Given the description of an element on the screen output the (x, y) to click on. 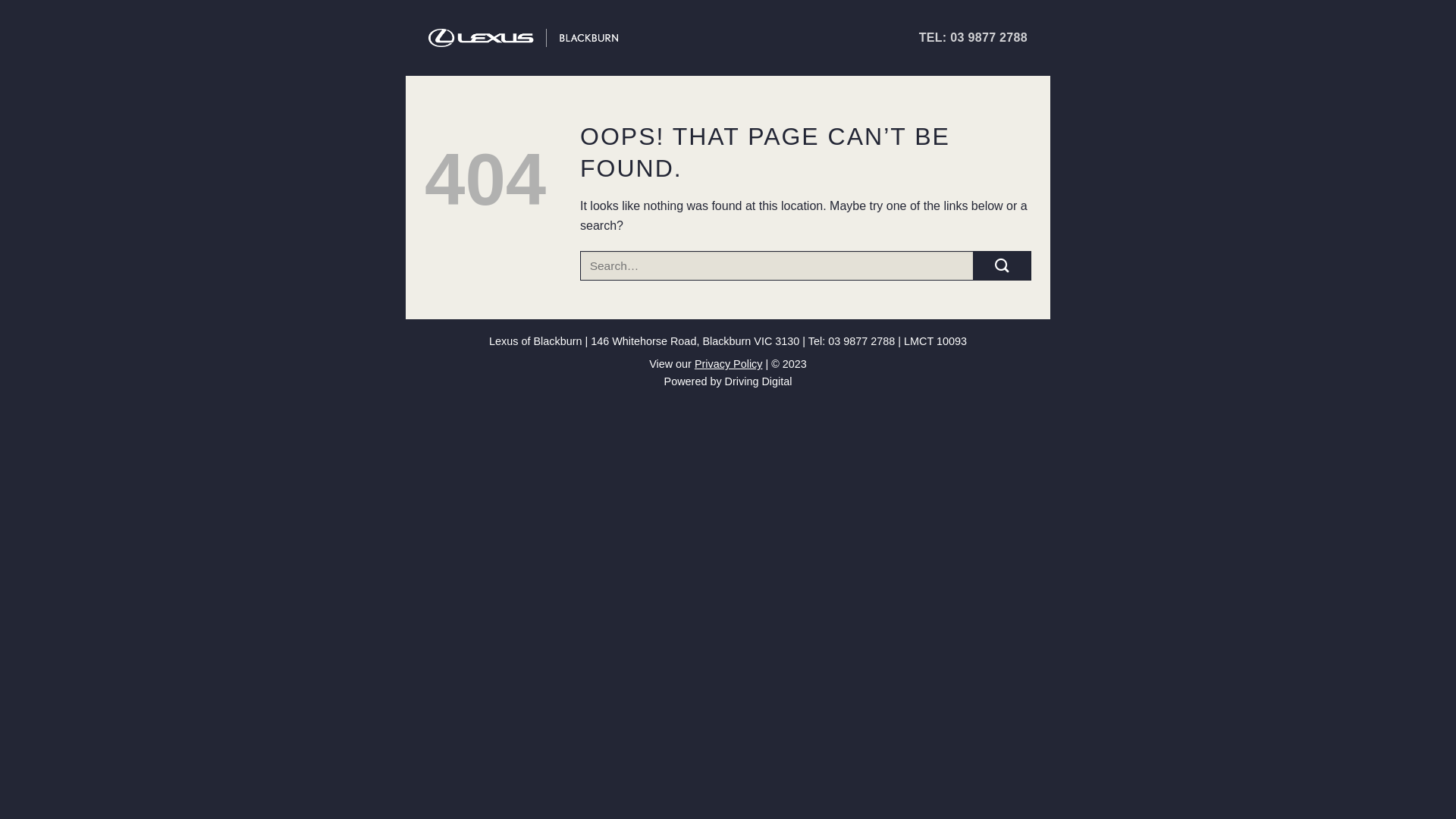
TEL: 03 9877 2788 Element type: text (973, 37)
Privacy Policy Element type: text (728, 363)
Powered by Driving Digital Element type: text (728, 381)
Lexus of Blackburn Element type: hover (523, 38)
